Given the description of an element on the screen output the (x, y) to click on. 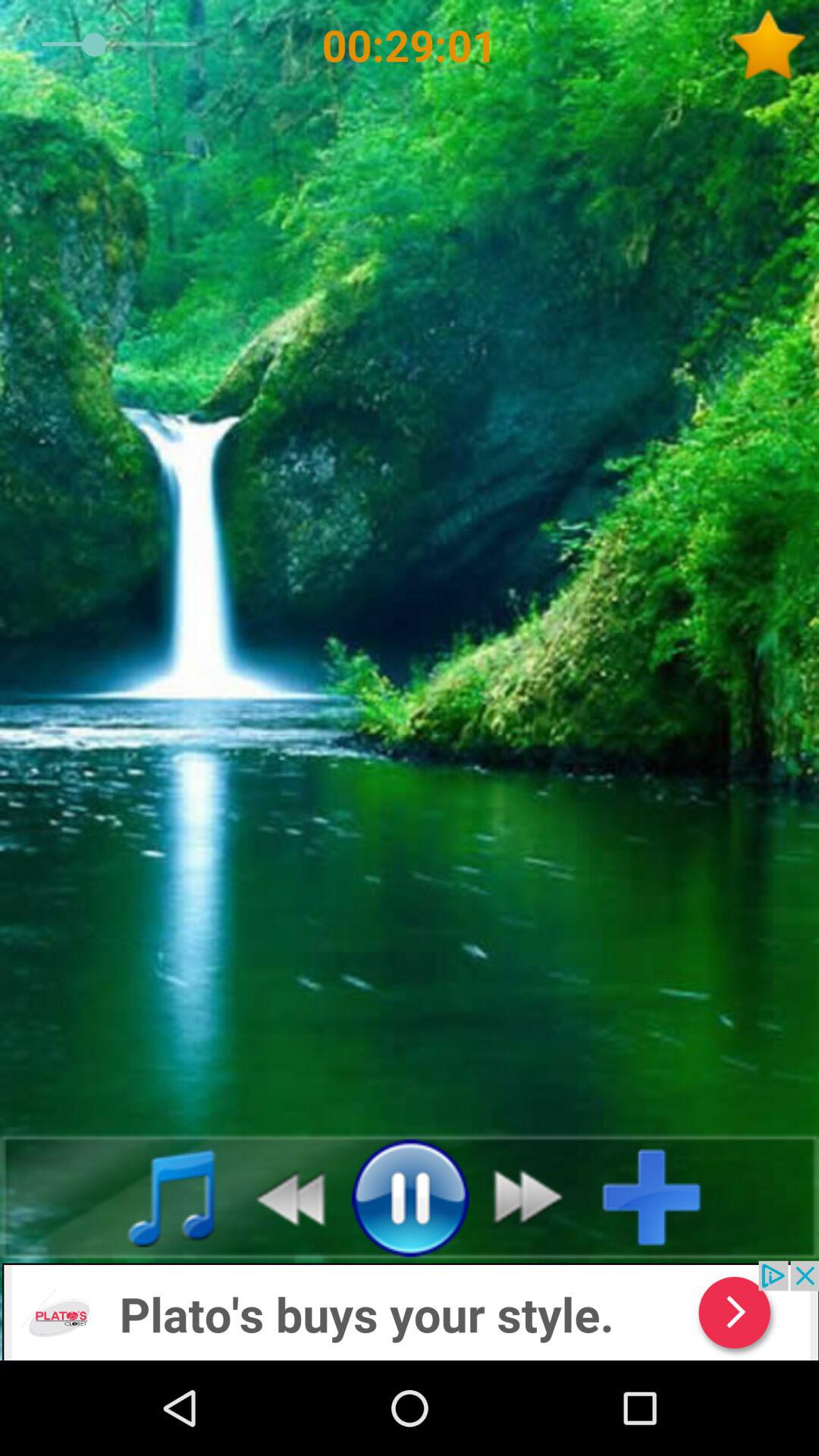
play backward icon (281, 1196)
